Given the description of an element on the screen output the (x, y) to click on. 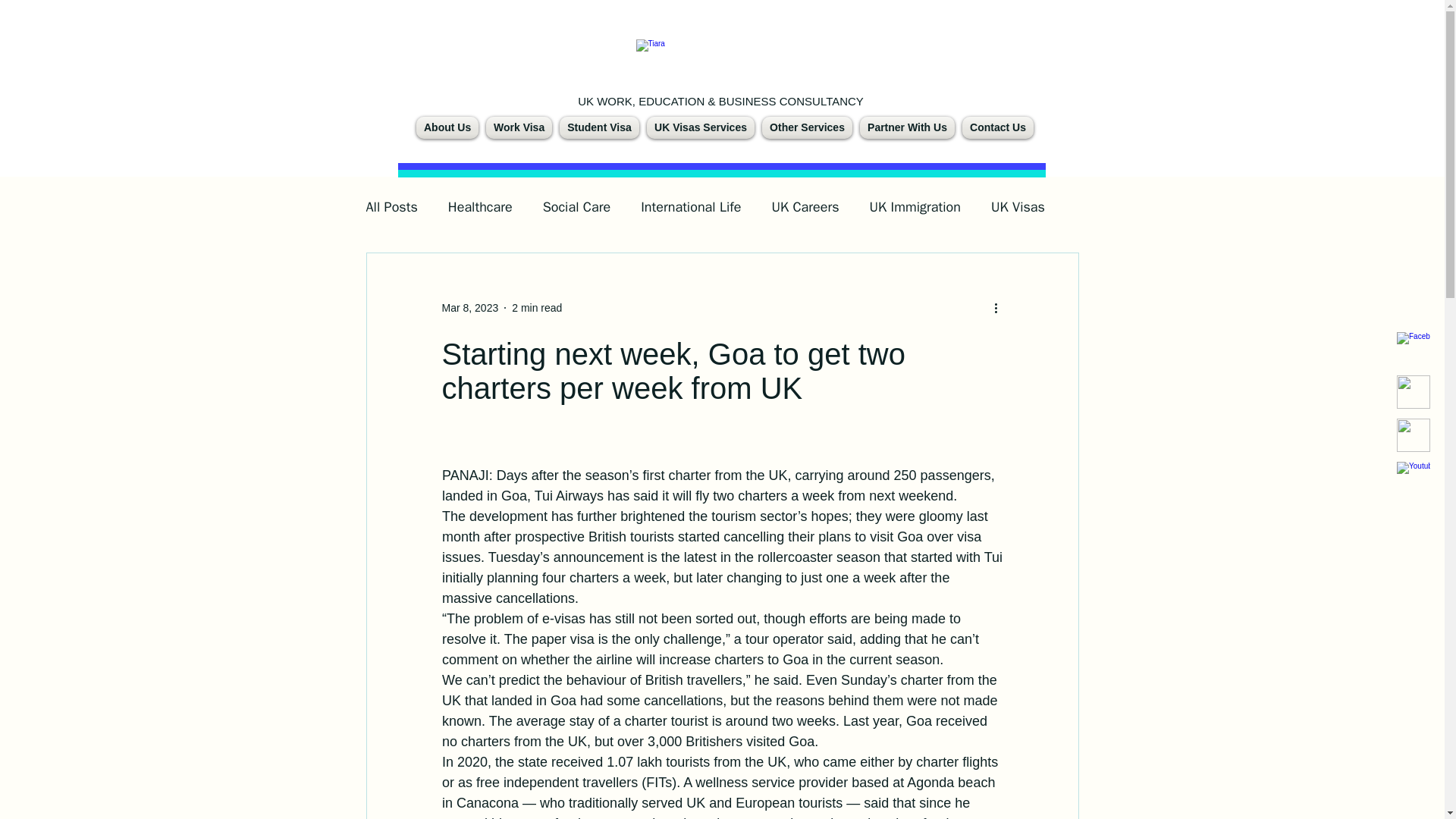
2 min read (537, 307)
Mar 8, 2023 (469, 307)
Student Visa (599, 127)
Work Visa (518, 127)
